Given the description of an element on the screen output the (x, y) to click on. 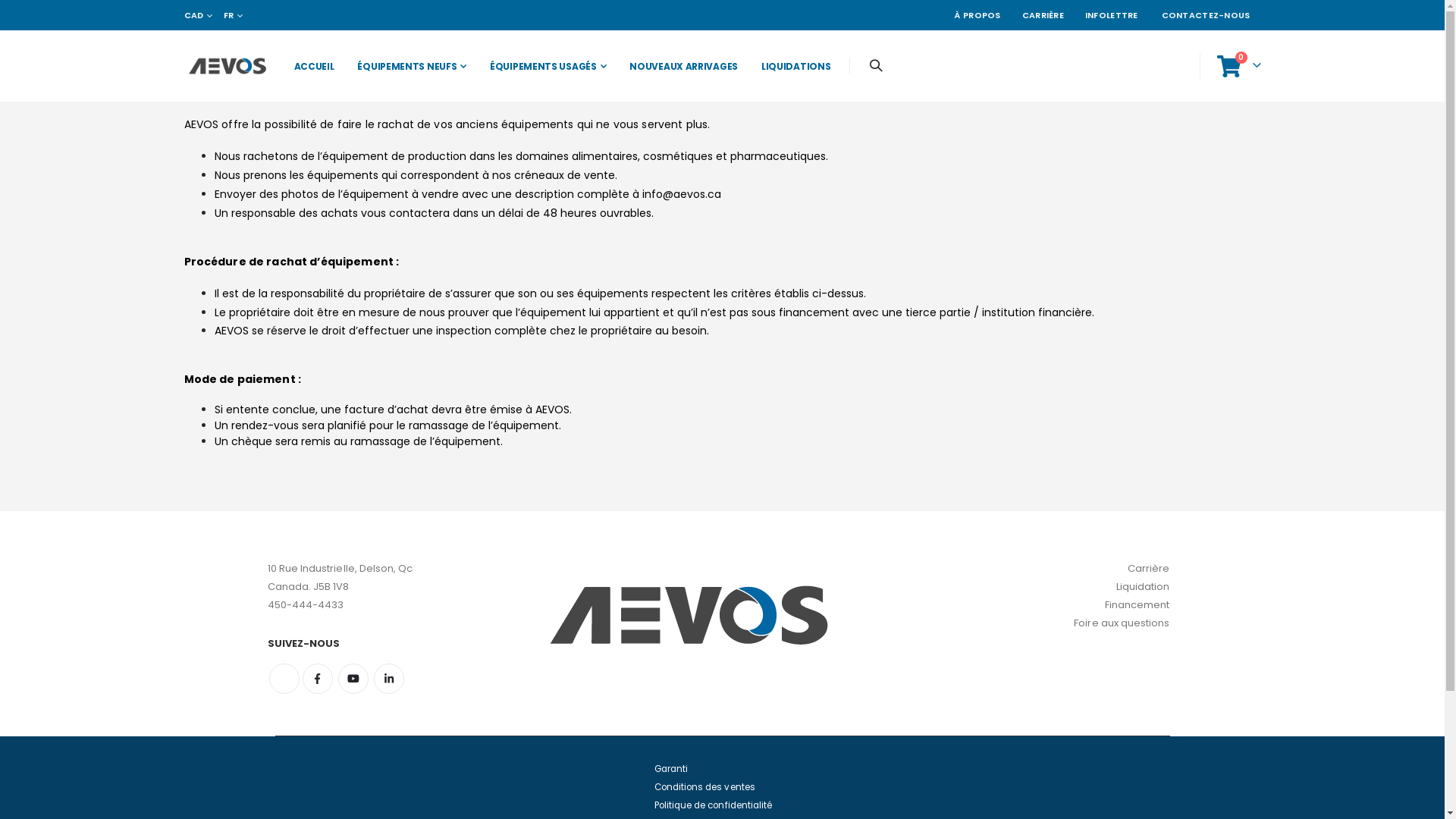
ACCUEIL Element type: text (310, 65)
Linkedin Element type: text (388, 678)
Financement Element type: text (1137, 604)
LIQUIDATIONS Element type: text (791, 65)
Liquidation Element type: text (1143, 586)
Garanti Element type: text (670, 768)
NOUVEAUX ARRIVAGES Element type: text (679, 65)
10 Rue Industrielle, Delson, Qc
Canada. J5B 1V8 Element type: text (339, 577)
INFOLETTRE Element type: text (1111, 15)
SUIVEZ-NOUS Element type: text (376, 643)
Cart
0 Element type: text (1238, 65)
Foire aux questions Element type: text (1121, 622)
logo Element type: hover (225, 65)
450-444-4433 Element type: text (304, 604)
CONTACTEZ-NOUS Element type: text (1206, 15)
Facebook Element type: text (316, 678)
Conditions des ventes Element type: text (703, 787)
Youtube Element type: text (353, 678)
